Given the description of an element on the screen output the (x, y) to click on. 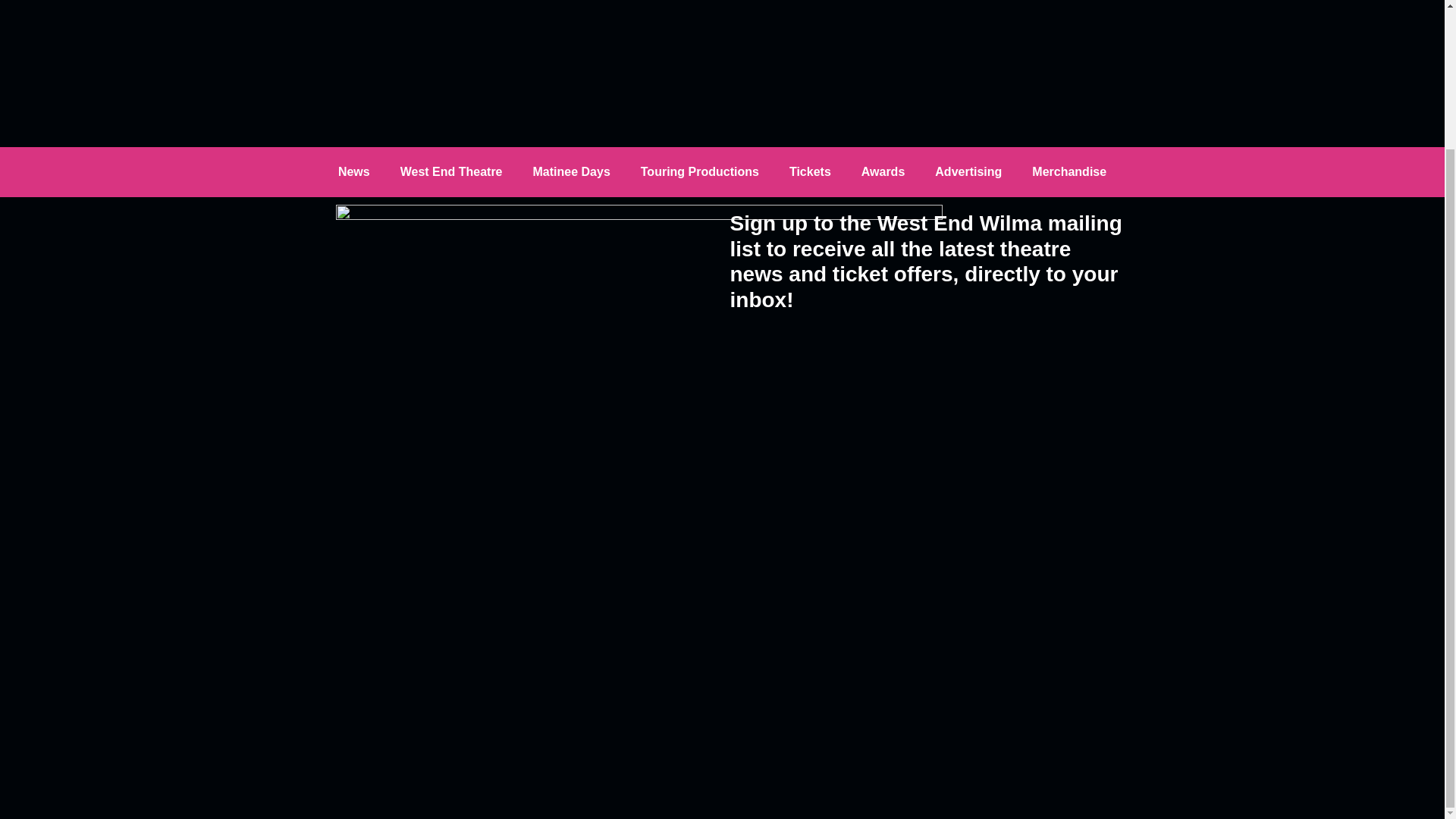
Matinee Days (572, 171)
West End Theatre (451, 171)
Awards (882, 171)
News (354, 171)
Merchandise (1068, 171)
Advertising (968, 171)
Tickets (809, 171)
Touring Productions (700, 171)
